Given the description of an element on the screen output the (x, y) to click on. 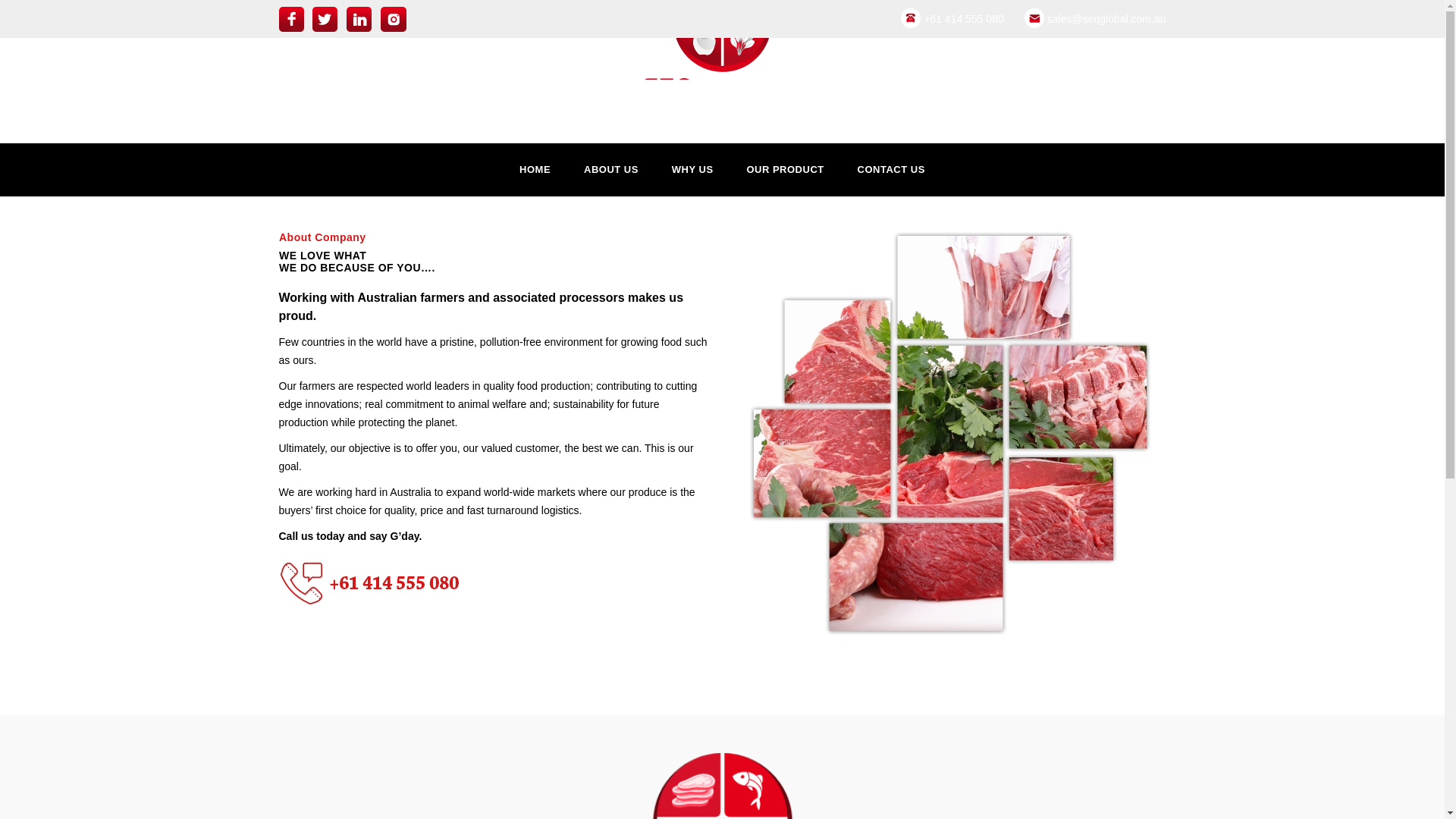
CONTACT US (891, 169)
WHY US (692, 169)
OUR PRODUCT (784, 169)
SEQ Global (722, 39)
ABOUT US (611, 169)
SEQ Global (722, 50)
HOME (534, 169)
